Given the description of an element on the screen output the (x, y) to click on. 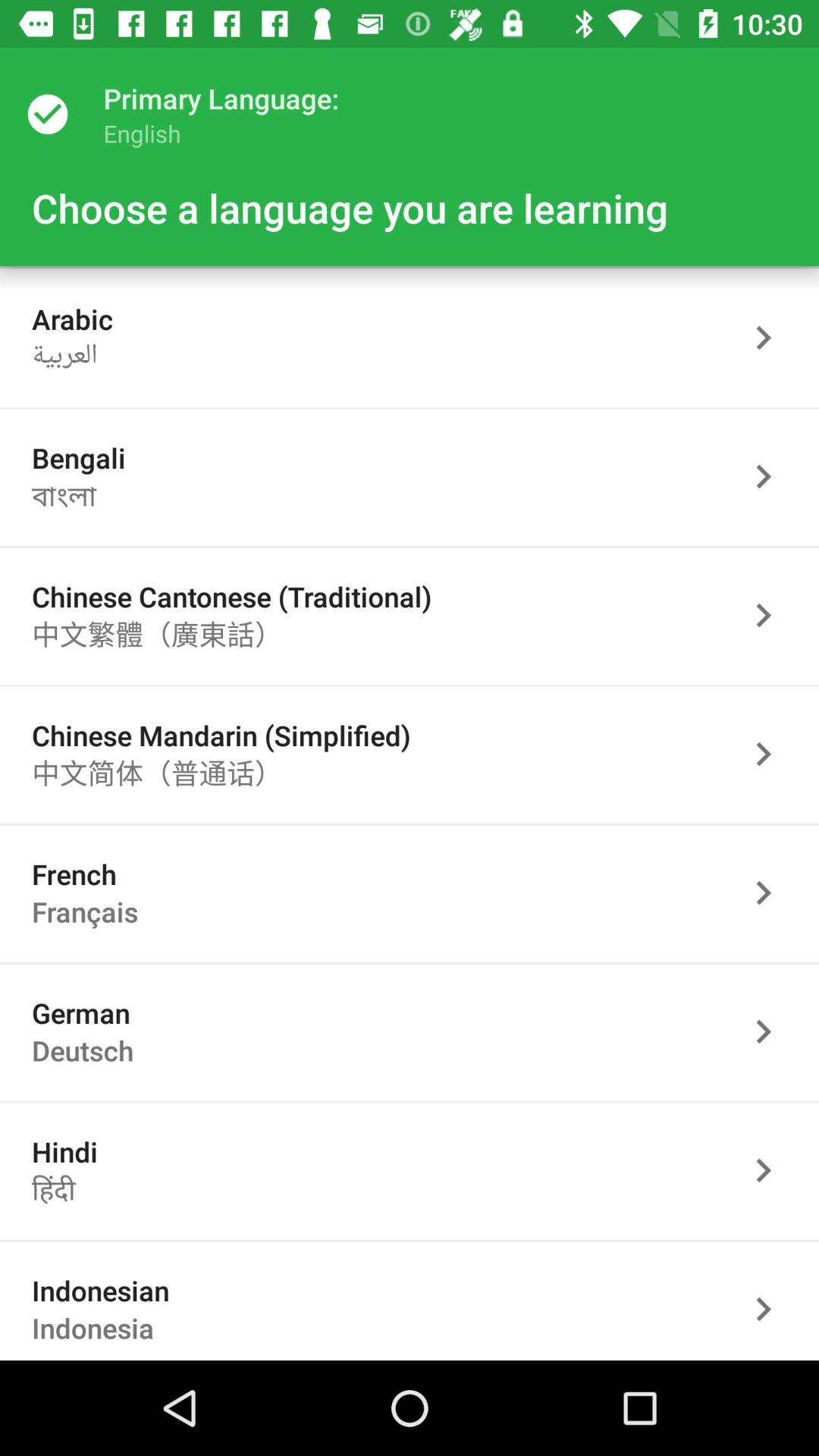
select arabic (771, 337)
